Given the description of an element on the screen output the (x, y) to click on. 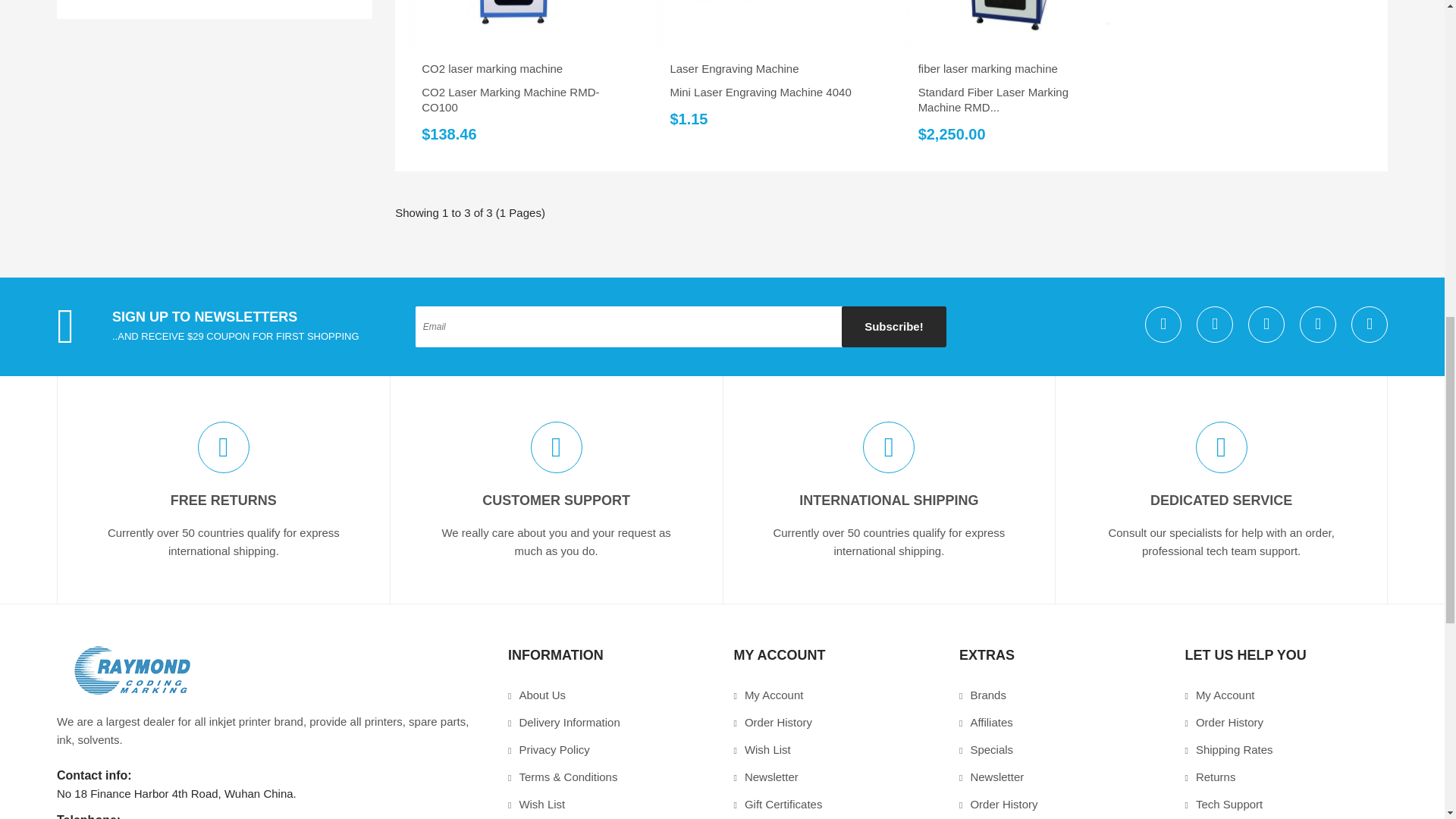
Google (1214, 324)
Standard Fiber Laser Marking Machine RMD... (1015, 24)
CO2 Laser Marking Machine RMD-CO100 (518, 24)
Facebook (1265, 324)
Twitter (1162, 324)
Mini Laser Engraving Machine 4040  (766, 24)
